Given the description of an element on the screen output the (x, y) to click on. 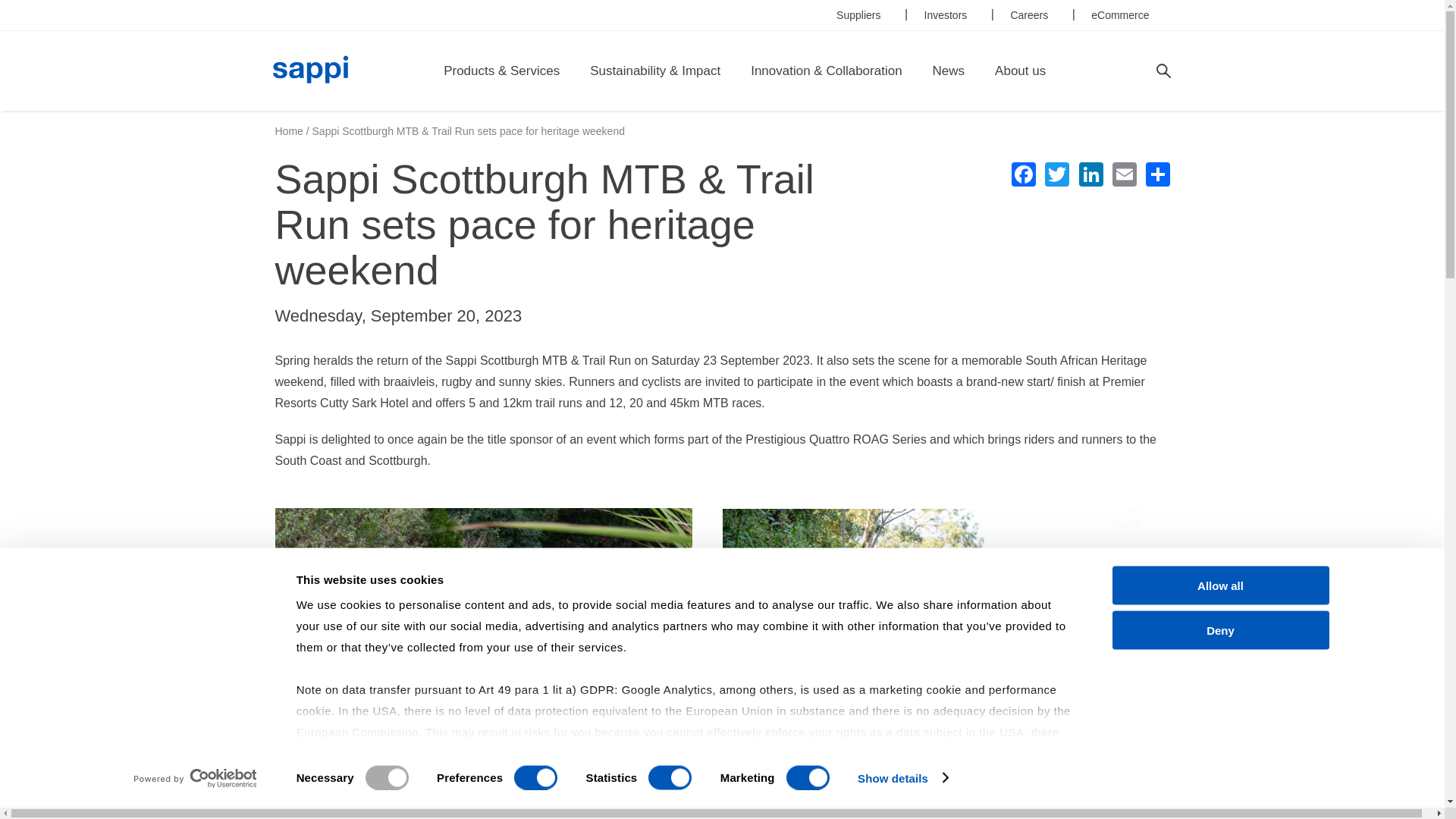
Show details (902, 777)
